Given the description of an element on the screen output the (x, y) to click on. 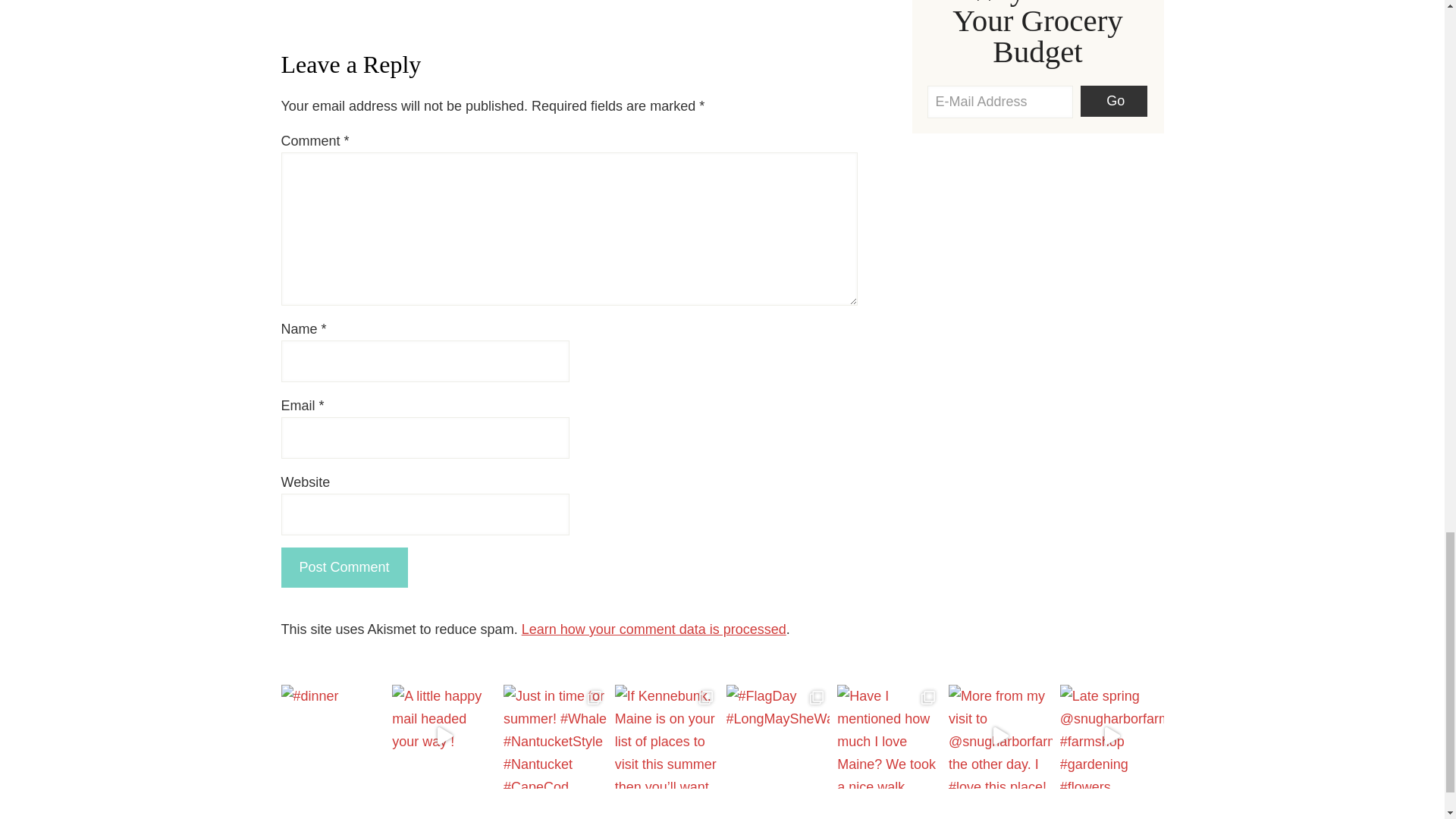
Transplanting Onions And Peas (609, 6)
Go (1113, 101)
Post Comment (344, 567)
Go (1113, 101)
10 Fun Facts About Potatoes! (366, 6)
Planting Garlic in the Fall for a Summer Harvest (489, 6)
Post Comment (344, 567)
Learn how your comment data is processed (653, 629)
